Given the description of an element on the screen output the (x, y) to click on. 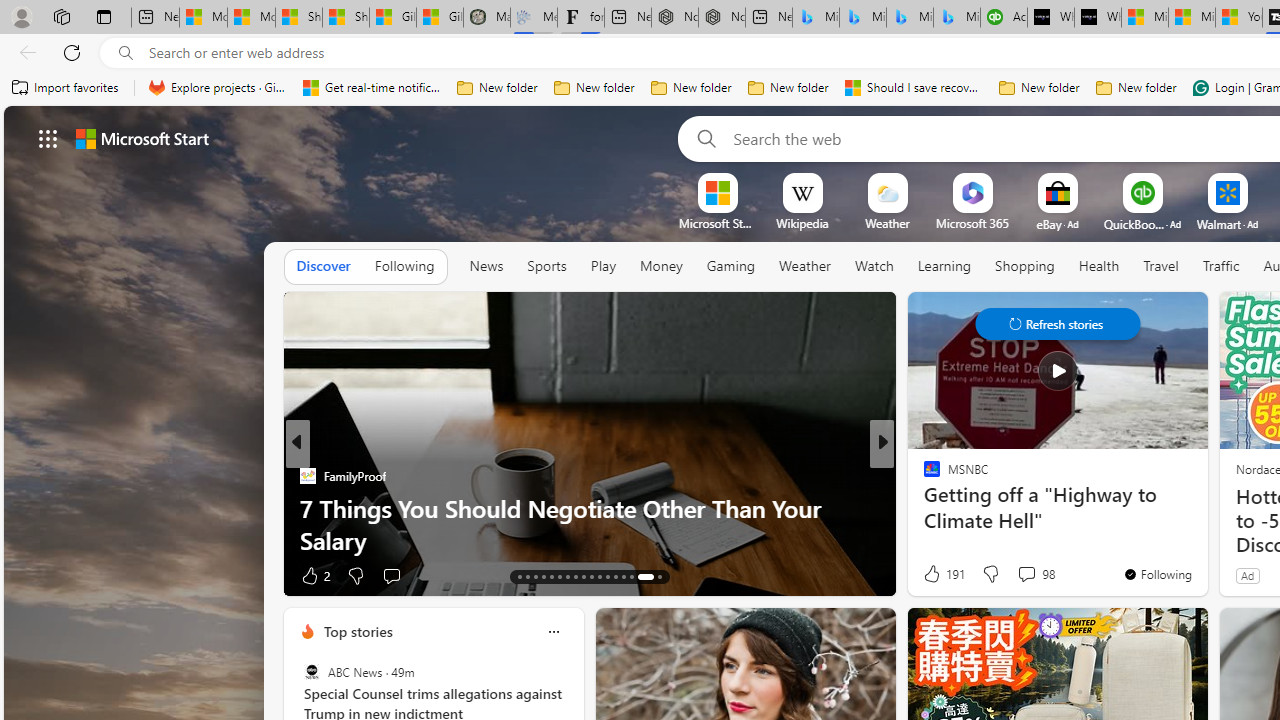
Learning (944, 267)
Inc. (923, 475)
Nordace - #1 Japanese Best-Seller - Siena Smart Backpack (721, 17)
New folder (1136, 88)
AutomationID: tab-16 (542, 576)
Health (1098, 267)
Travel (1160, 265)
Traffic (1220, 267)
Shopping (1025, 267)
Sports (546, 265)
